Given the description of an element on the screen output the (x, y) to click on. 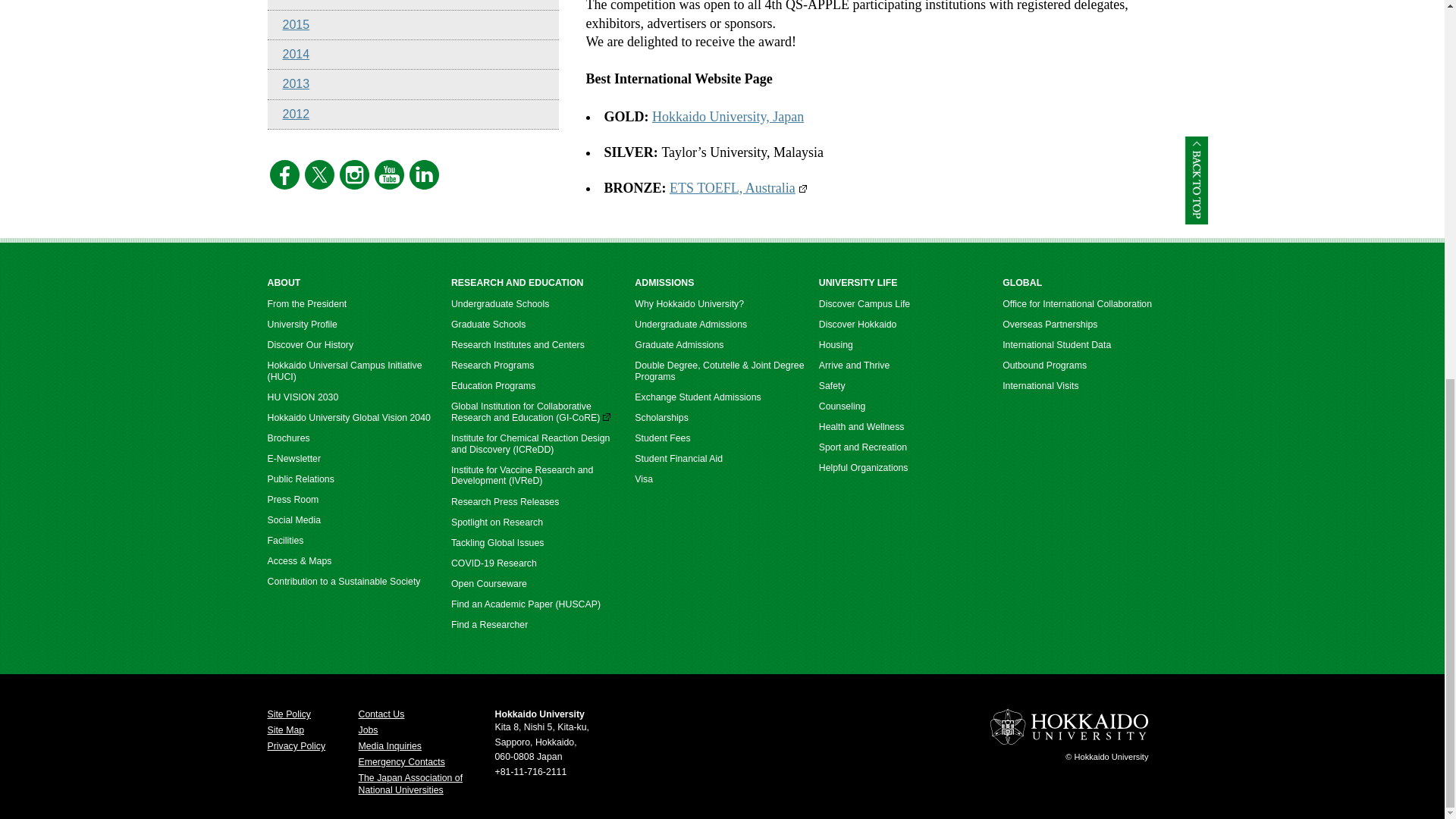
Facebook (284, 185)
Instagram (354, 185)
Twitter (319, 185)
Hokkaido University (1068, 742)
LinkedIn (424, 185)
YouTube (389, 185)
